Given the description of an element on the screen output the (x, y) to click on. 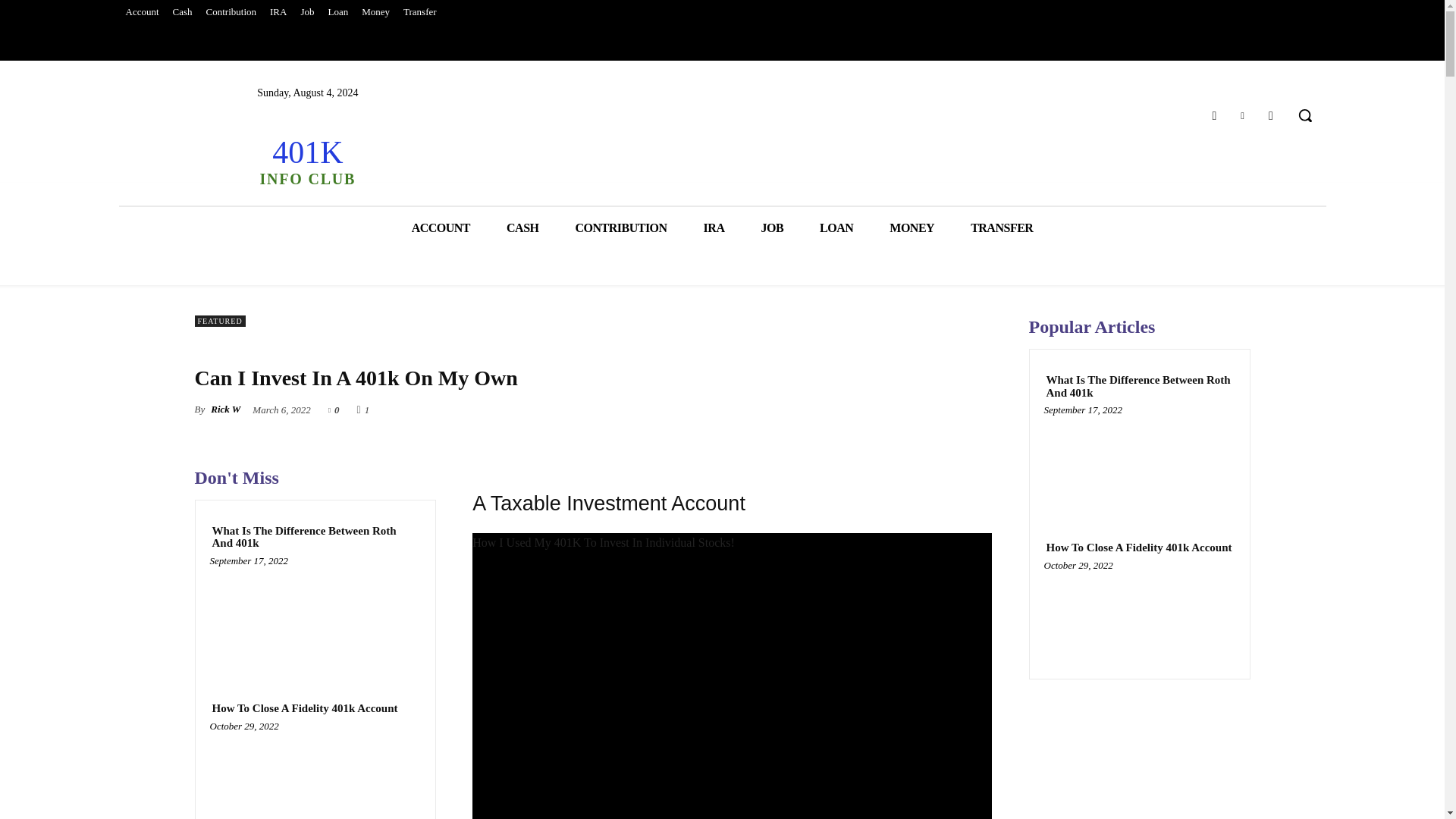
IRA (278, 12)
Account (141, 12)
How To Close A Fidelity 401k Account (303, 707)
Facebook (1214, 115)
Job (307, 12)
Cash (182, 12)
Loan (337, 12)
IRA (713, 227)
Youtube (1270, 115)
Money (375, 12)
